Given the description of an element on the screen output the (x, y) to click on. 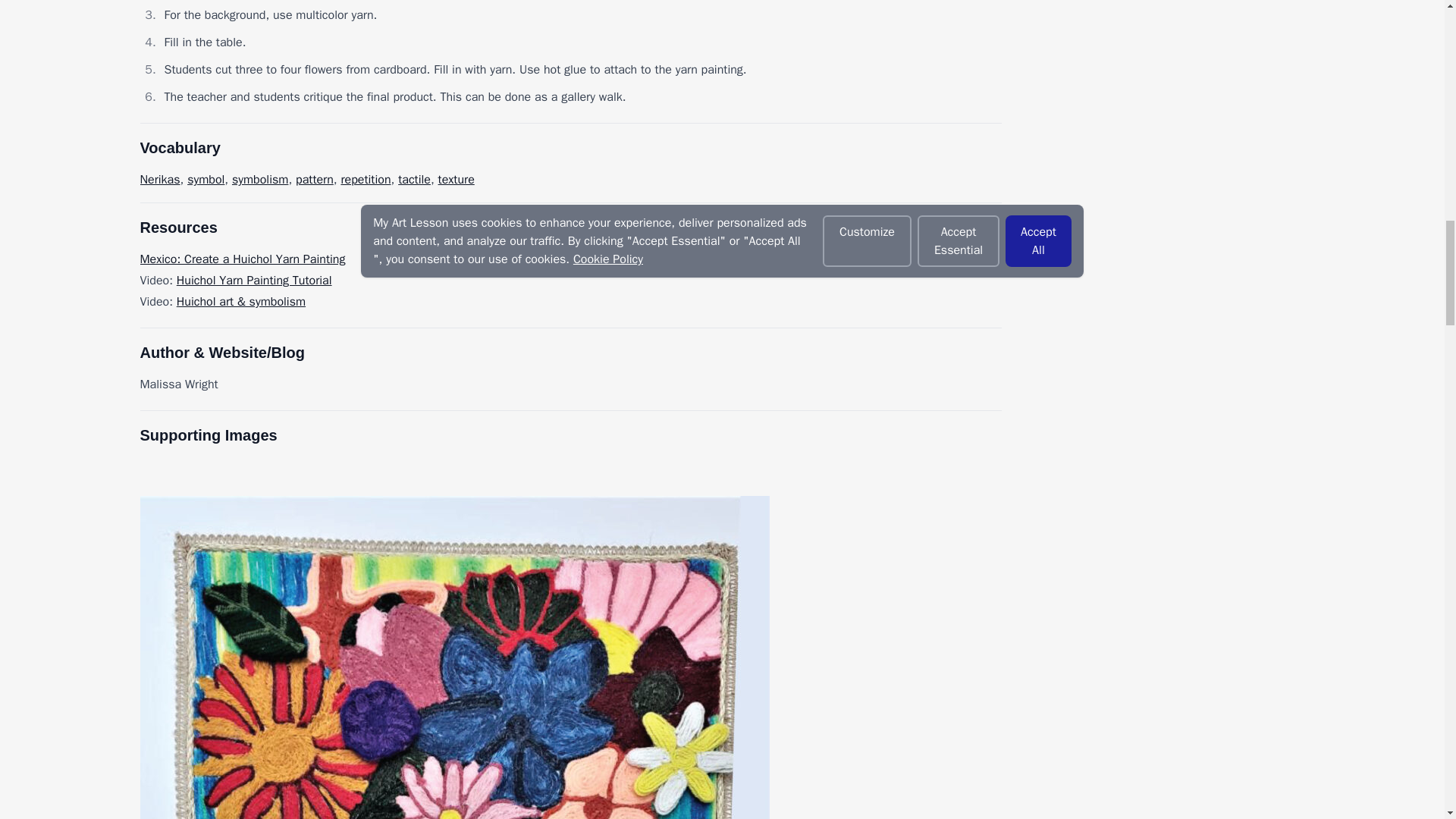
symbol (205, 179)
Huichol Yarn Painting Tutorial (253, 280)
texture (456, 179)
View all posts with tag texture (456, 179)
Mexico: Create a Huichol Yarn Painting (242, 258)
pattern (314, 179)
Nerikas (159, 179)
View all posts with tag symbol (205, 179)
View all posts with tag tactile (413, 179)
View all posts with tag pattern (314, 179)
repetition (365, 179)
View all posts with tag symbolism (259, 179)
tactile (413, 179)
View all posts with tag repetition (365, 179)
symbolism (259, 179)
